Given the description of an element on the screen output the (x, y) to click on. 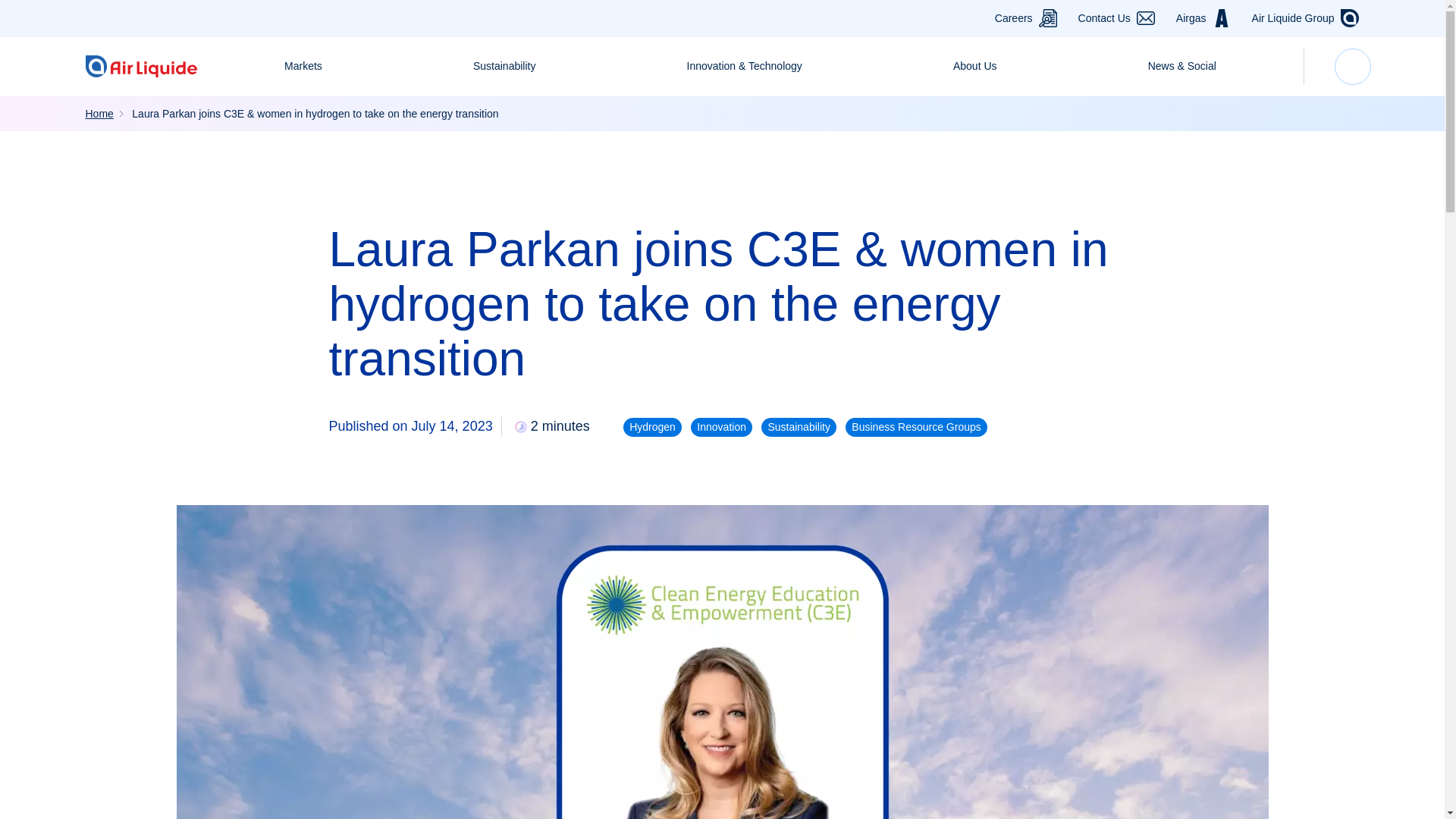
Careers (1013, 18)
Air Liquide Group (1293, 18)
Airgas (1191, 18)
Sustainability (504, 65)
Markets (303, 65)
Contact Us (1104, 18)
